Given the description of an element on the screen output the (x, y) to click on. 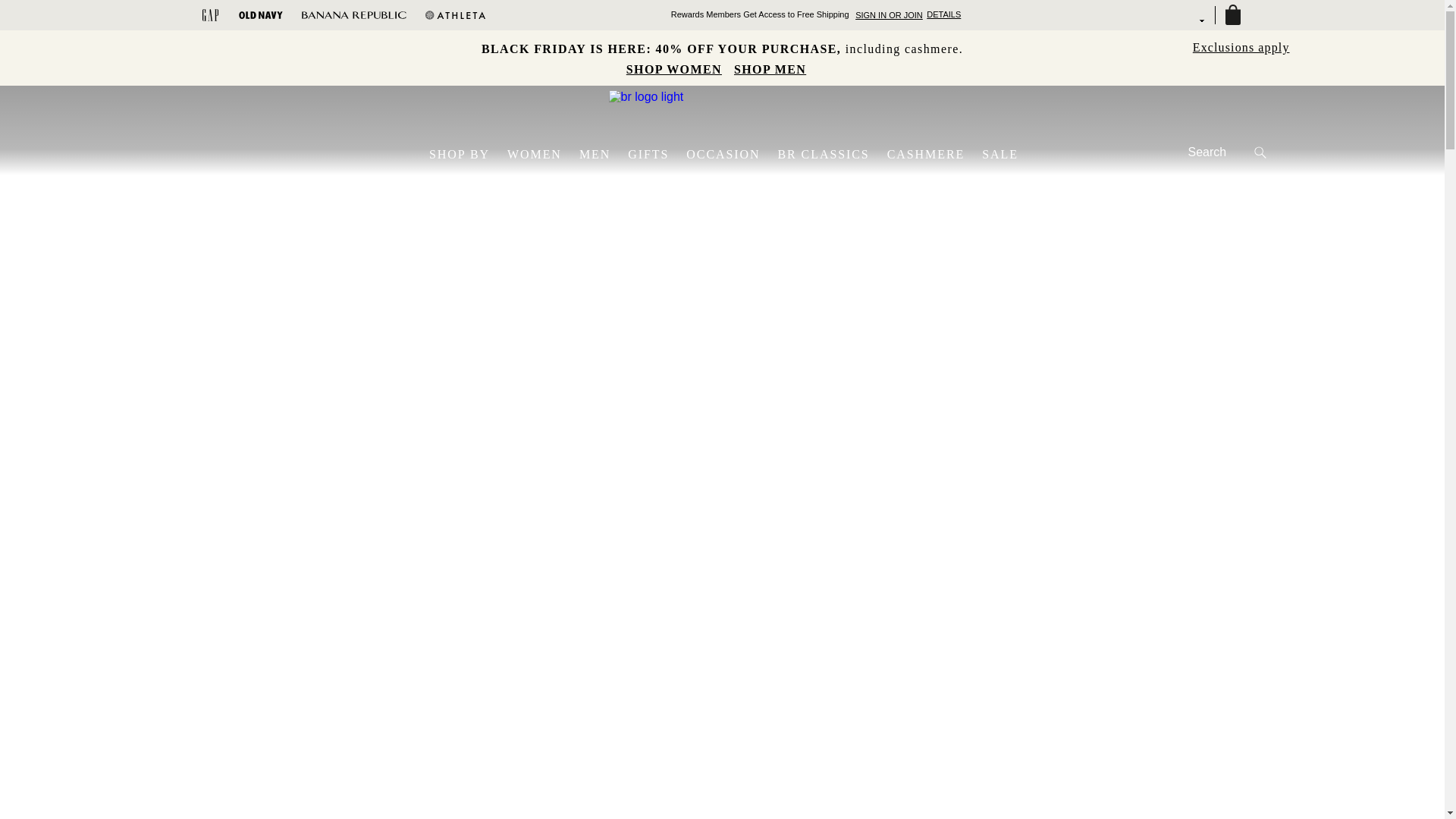
BR Classics Element type: text (777, 147)
OCCASION Element type: text (722, 154)
Occasion Element type: text (685, 147)
MEN Element type: text (594, 154)
SIGN IN OR JOIN Element type: text (889, 14)
Gifts Element type: text (627, 147)
DETAILS Element type: text (943, 13)
Shop by Element type: text (428, 147)
Men Element type: text (578, 147)
BR CLASSICS Element type: text (823, 154)
SHOP WOMEN Element type: text (673, 69)
Women Element type: text (506, 147)
SALE Element type: text (1000, 154)
Exclusions apply Element type: text (1240, 47)
Sale Element type: text (981, 147)
SHOP BY Element type: text (459, 154)
Cashmere Element type: text (886, 147)
CASHMERE Element type: text (926, 154)
WOMEN Element type: text (534, 154)
Bag Element type: hover (1232, 15)
SHOP MEN Element type: text (770, 69)
GIFTS Element type: text (647, 154)
